Given the description of an element on the screen output the (x, y) to click on. 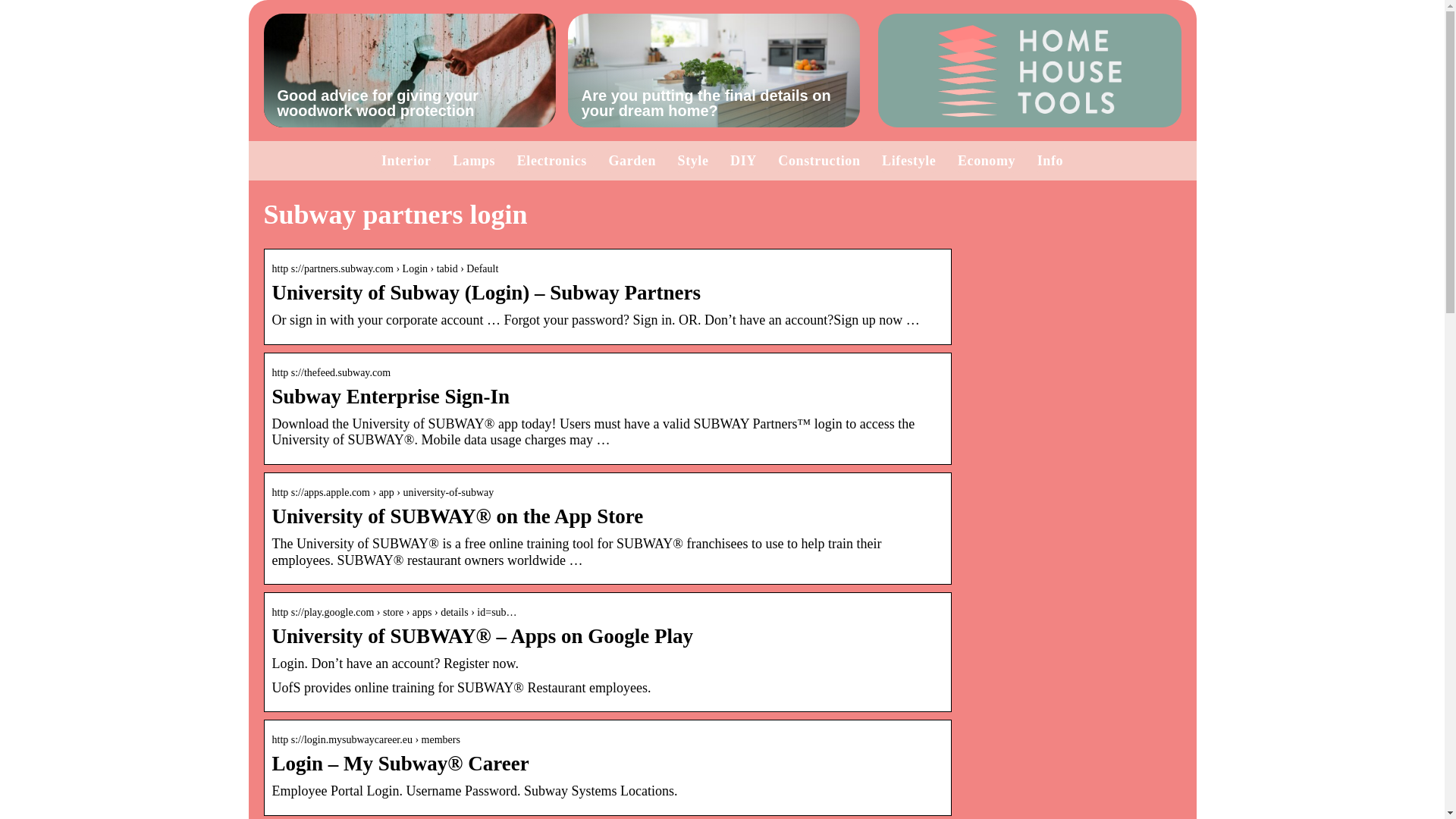
Lamps (473, 160)
Good advice for giving your woodwork wood protection (409, 70)
Info (1049, 160)
Construction (818, 160)
Are you putting the final details on your dream home? (713, 70)
Style (693, 160)
Garden (632, 160)
Lifestyle (909, 160)
Electronics (551, 160)
Interior (405, 160)
